Given the description of an element on the screen output the (x, y) to click on. 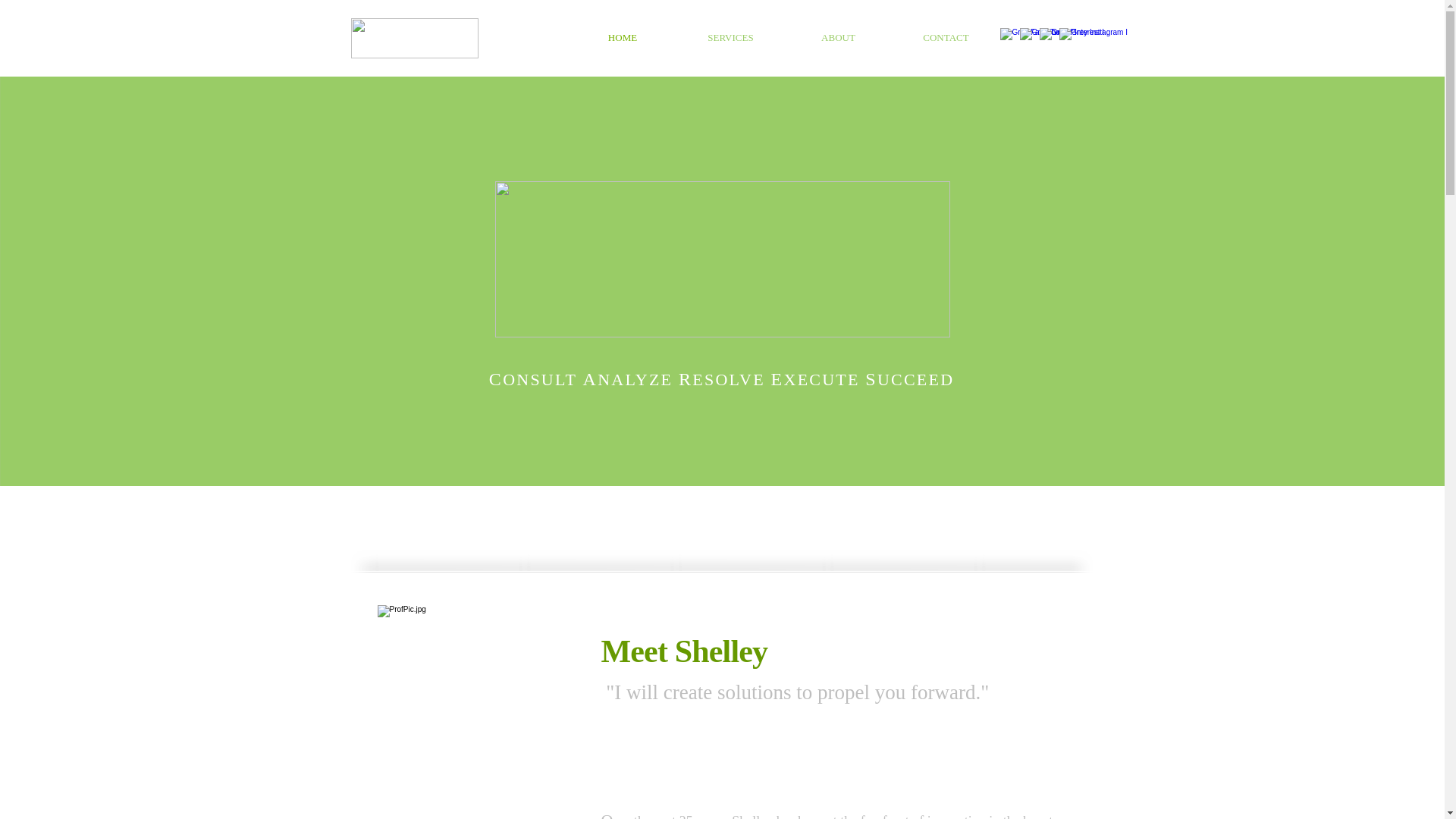
ABOUT Element type: text (837, 37)
GreenMediumLogo.gif Element type: hover (413, 38)
SERVICES Element type: text (841, 348)
HOME Element type: text (622, 37)
SERVICES Element type: text (730, 37)
CONTACT Element type: text (945, 37)
HOME Element type: text (778, 348)
